Given the description of an element on the screen output the (x, y) to click on. 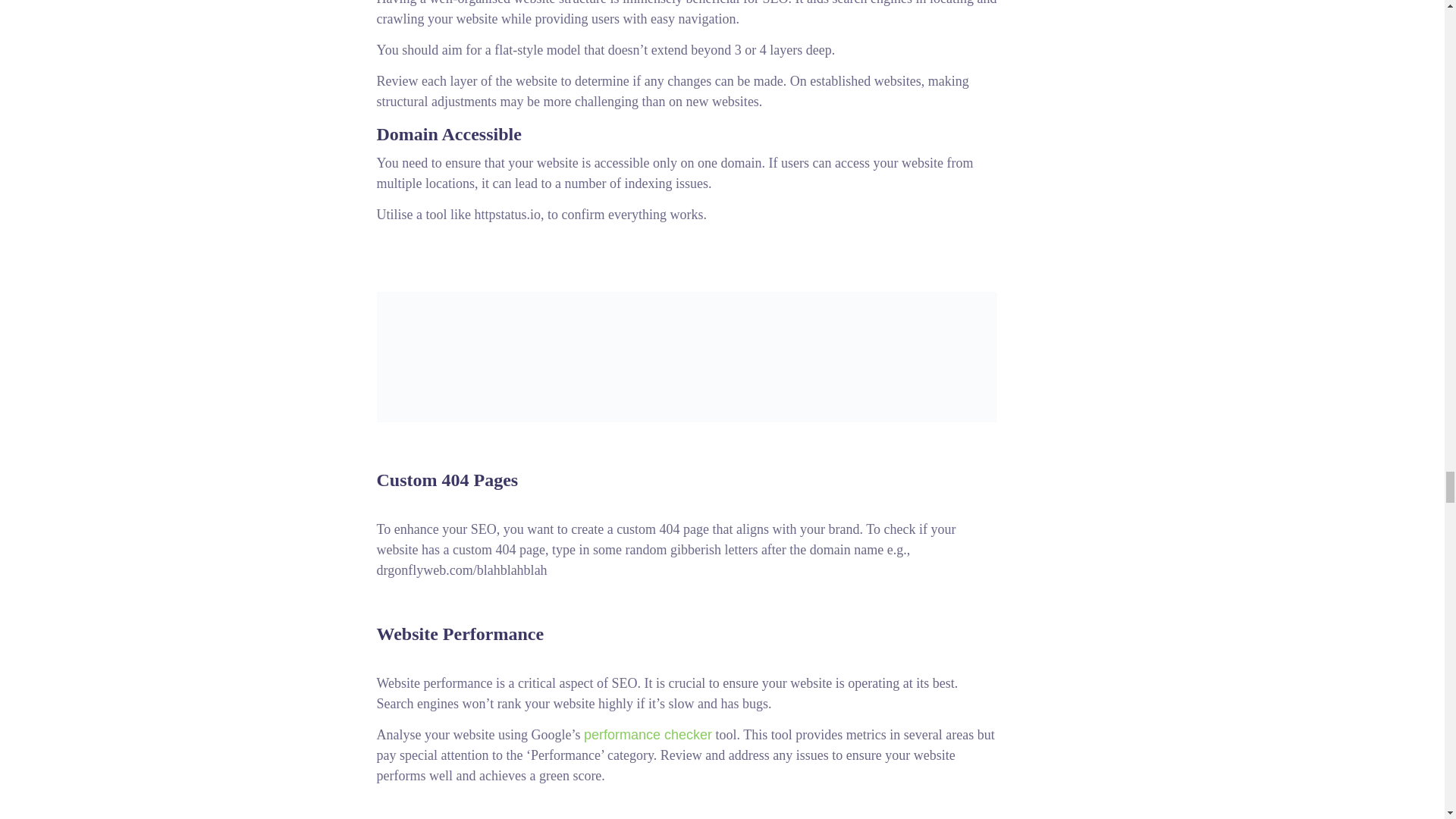
httpsio (686, 356)
